Given the description of an element on the screen output the (x, y) to click on. 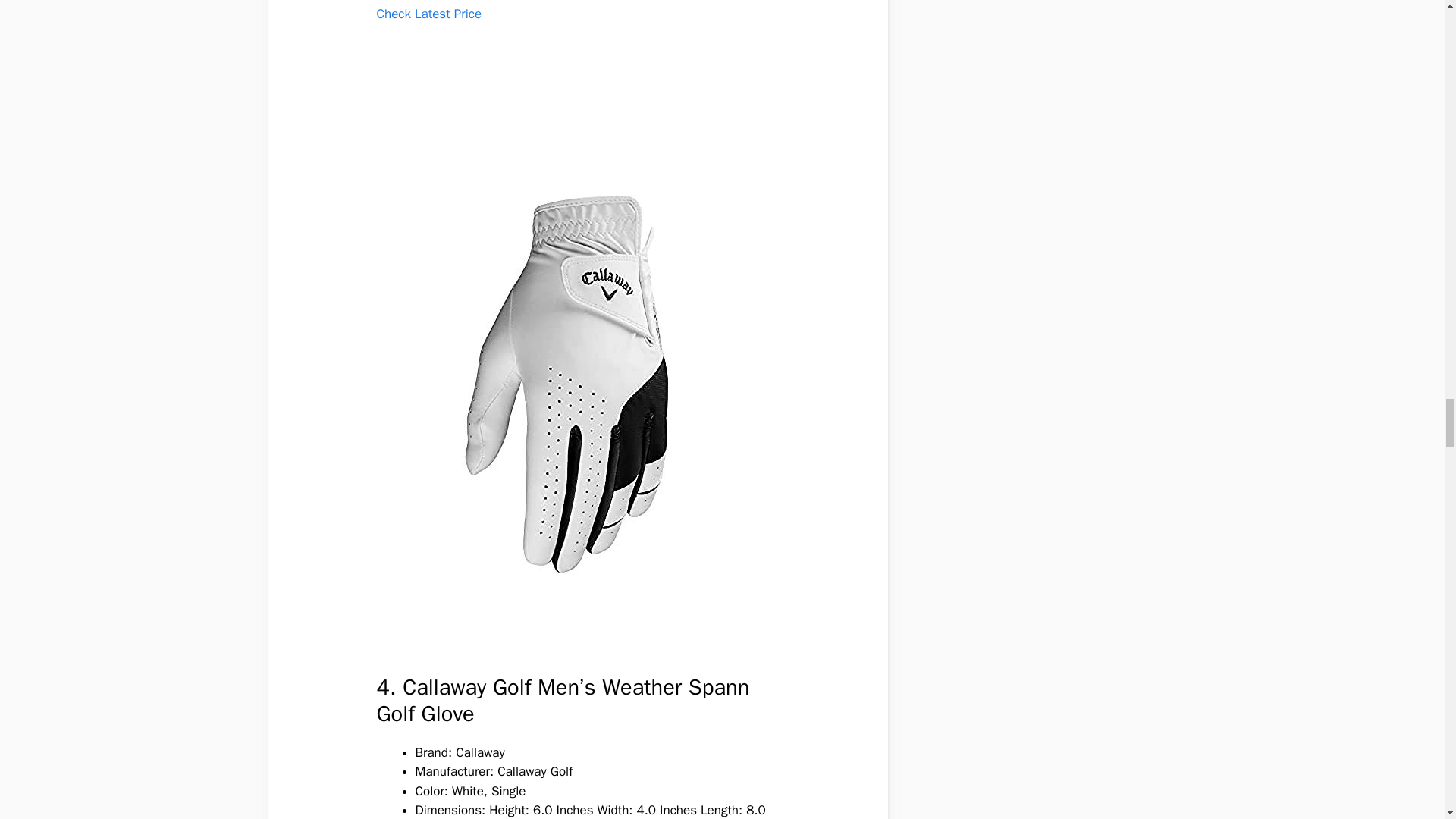
Check Latest Price (428, 13)
